Given the description of an element on the screen output the (x, y) to click on. 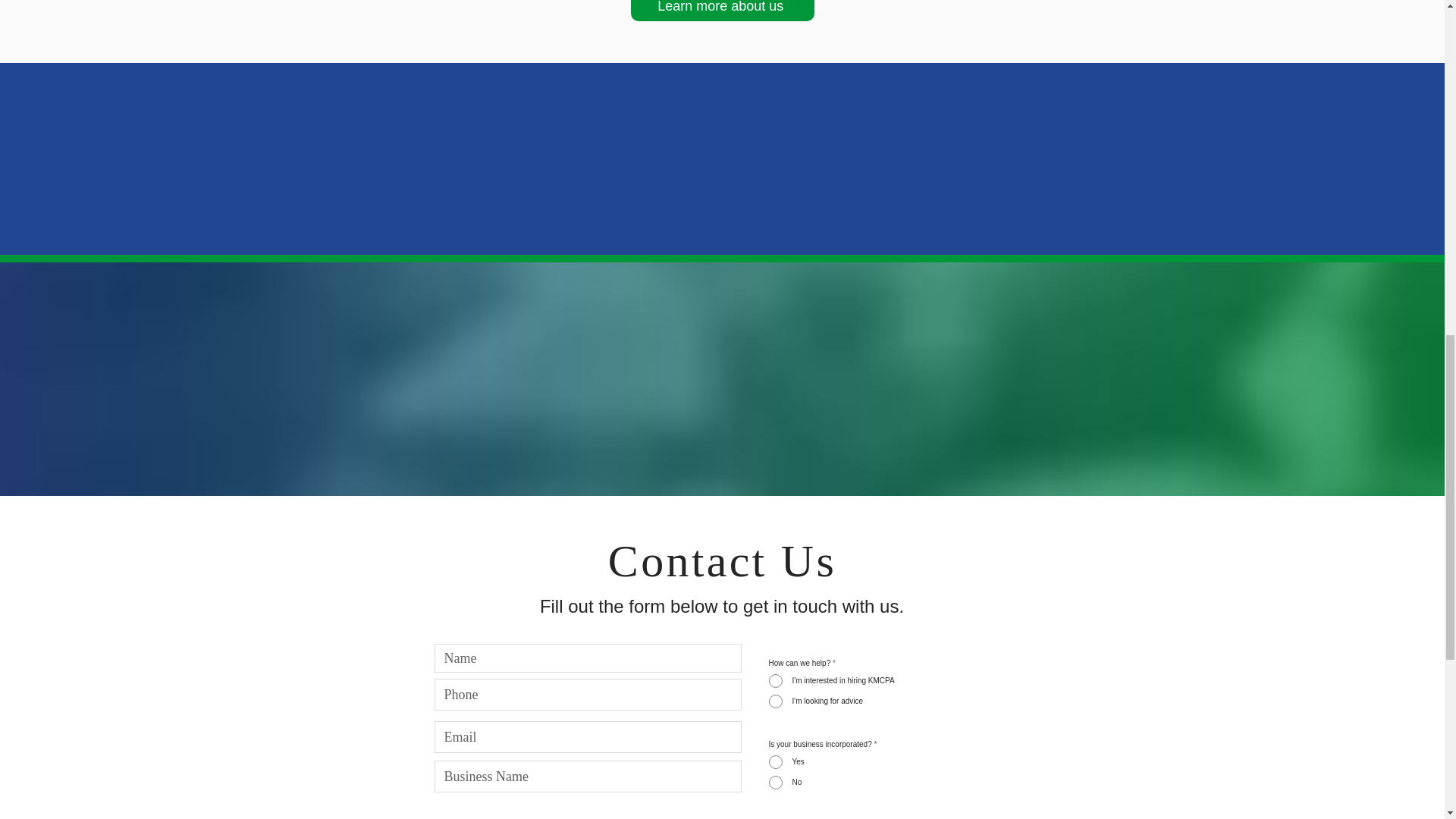
Learn more about us (721, 10)
